Given the description of an element on the screen output the (x, y) to click on. 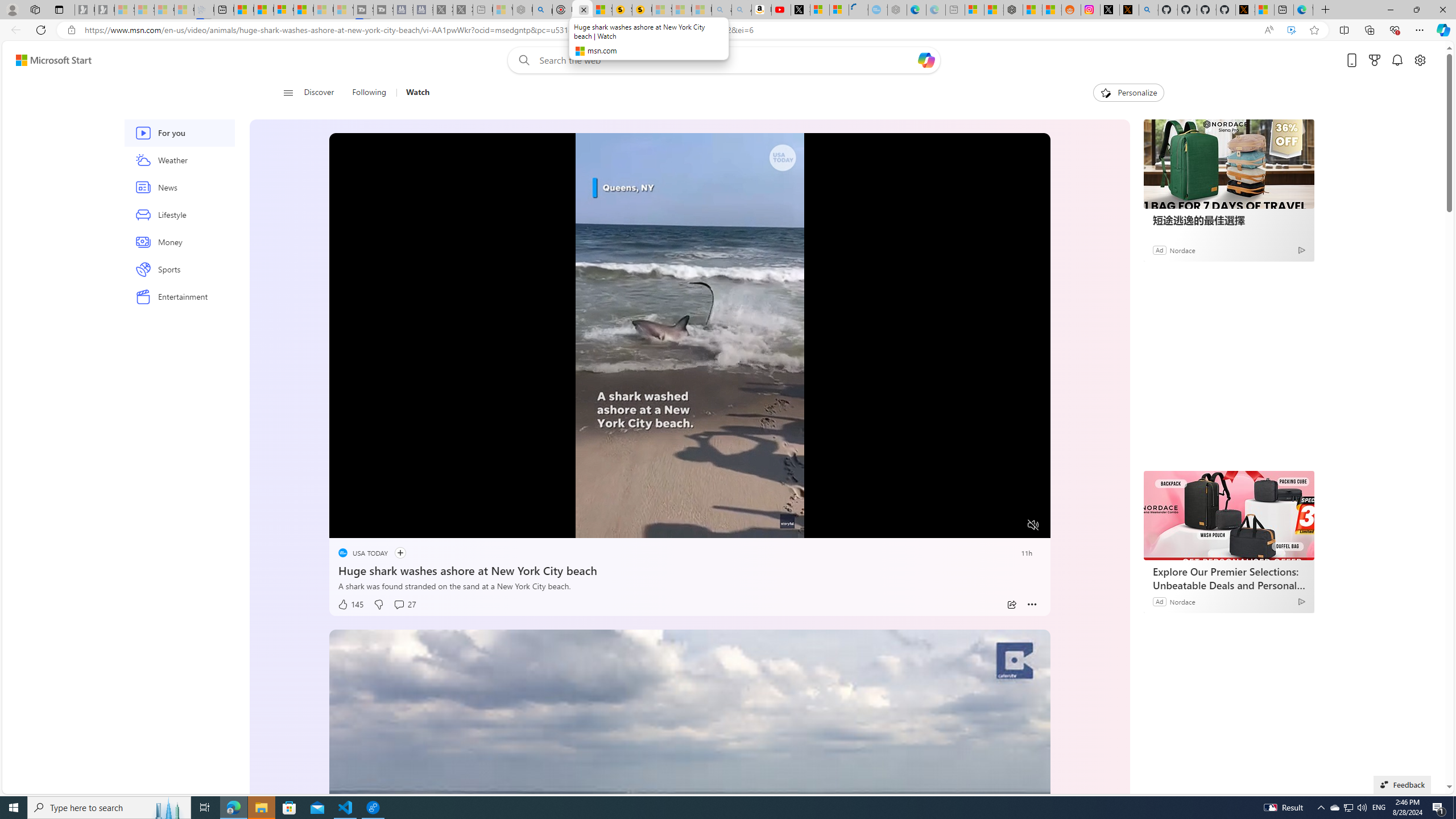
Seek Forward (391, 525)
Overview (283, 9)
Captions (988, 525)
Nordace - Nordace has arrived Hong Kong - Sleeping (896, 9)
The most popular Google 'how to' searches - Sleeping (877, 9)
